Given the description of an element on the screen output the (x, y) to click on. 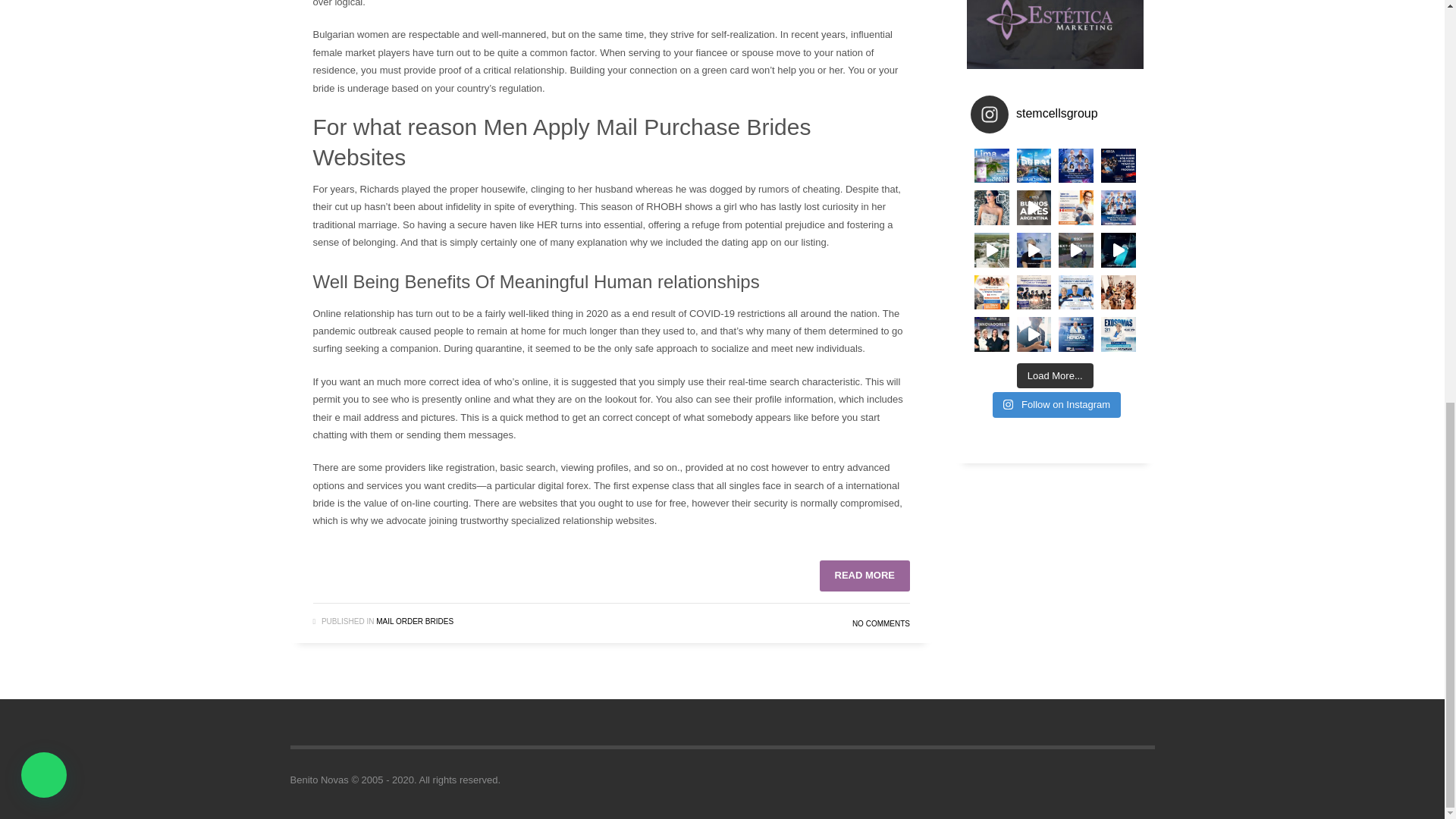
NO COMMENTS (880, 623)
READ MORE (864, 575)
stemcellsgroup (1055, 114)
MAIL ORDER BRIDES (413, 621)
